Given the description of an element on the screen output the (x, y) to click on. 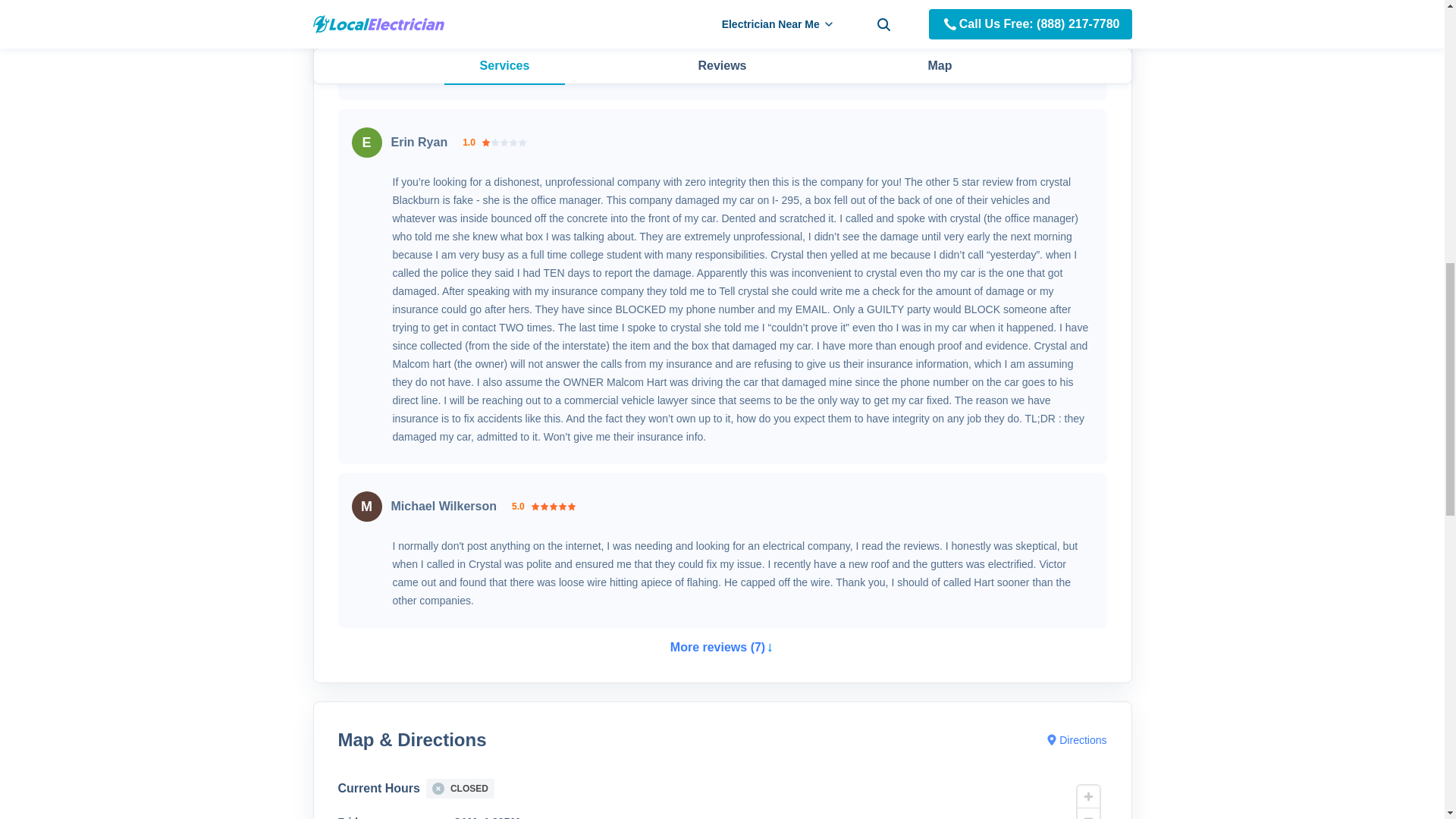
Zoom in (1088, 796)
Zoom out (1088, 813)
